Given the description of an element on the screen output the (x, y) to click on. 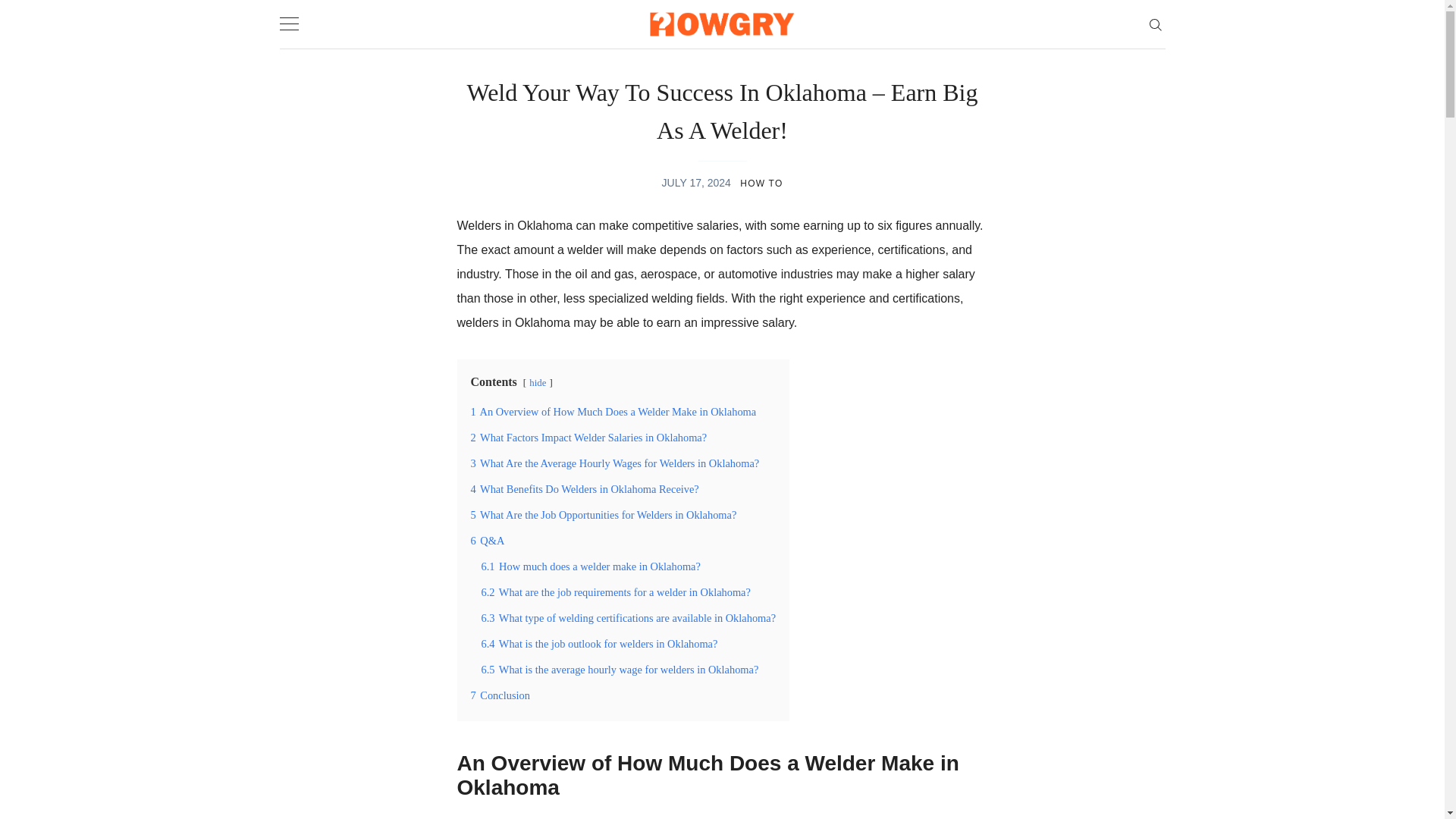
HOW TO (761, 183)
6.4 What is the job outlook for welders in Oklahoma? (598, 644)
hide (537, 382)
7 Conclusion (499, 695)
5 What Are the Job Opportunities for Welders in Oklahoma? (603, 514)
Advertisement (722, 812)
2 What Factors Impact Welder Salaries in Oklahoma? (588, 437)
6.2 What are the job requirements for a welder in Oklahoma? (614, 592)
3 What Are the Average Hourly Wages for Welders in Oklahoma? (614, 463)
